Given the description of an element on the screen output the (x, y) to click on. 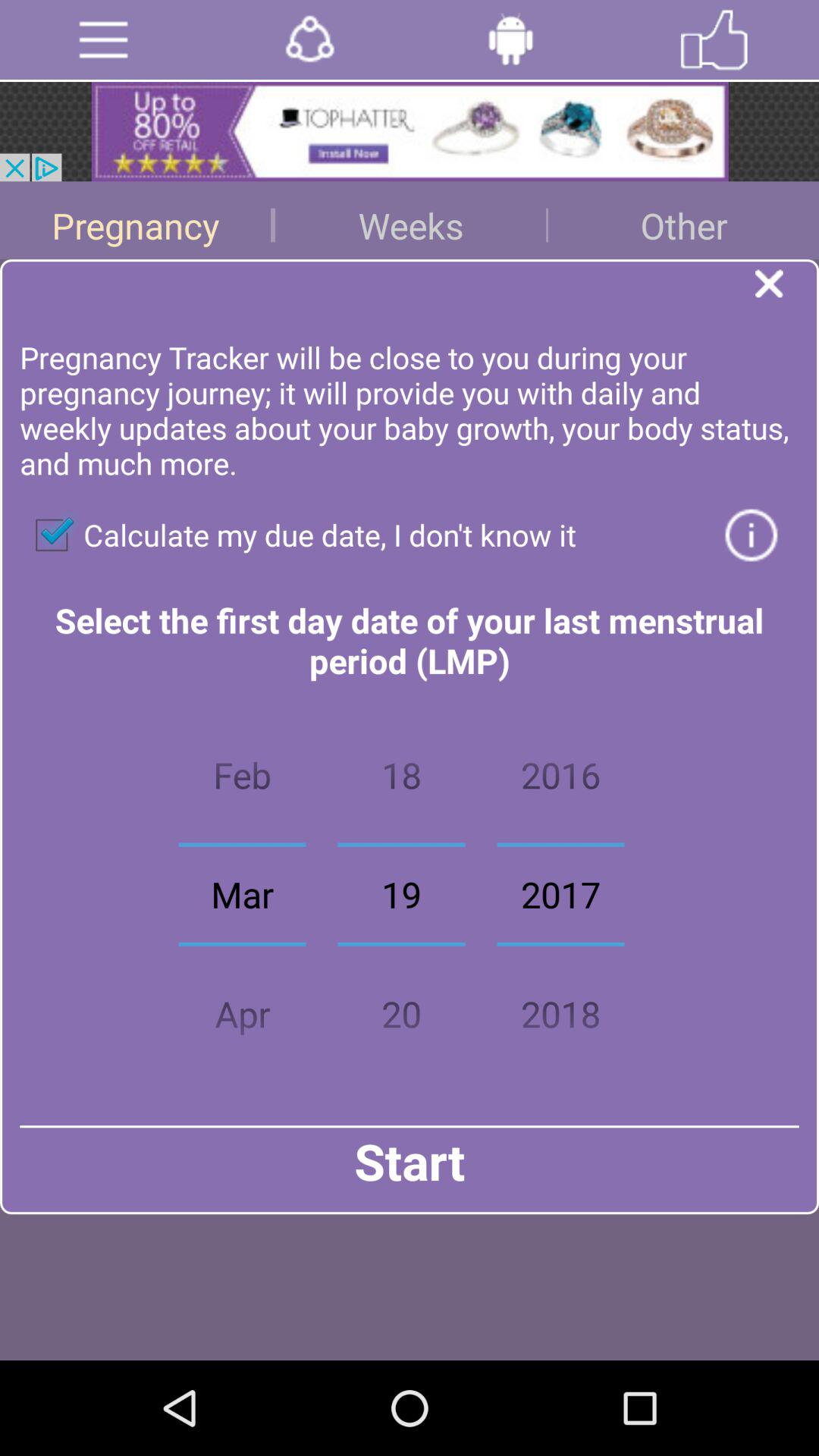
open menu (103, 39)
